Given the description of an element on the screen output the (x, y) to click on. 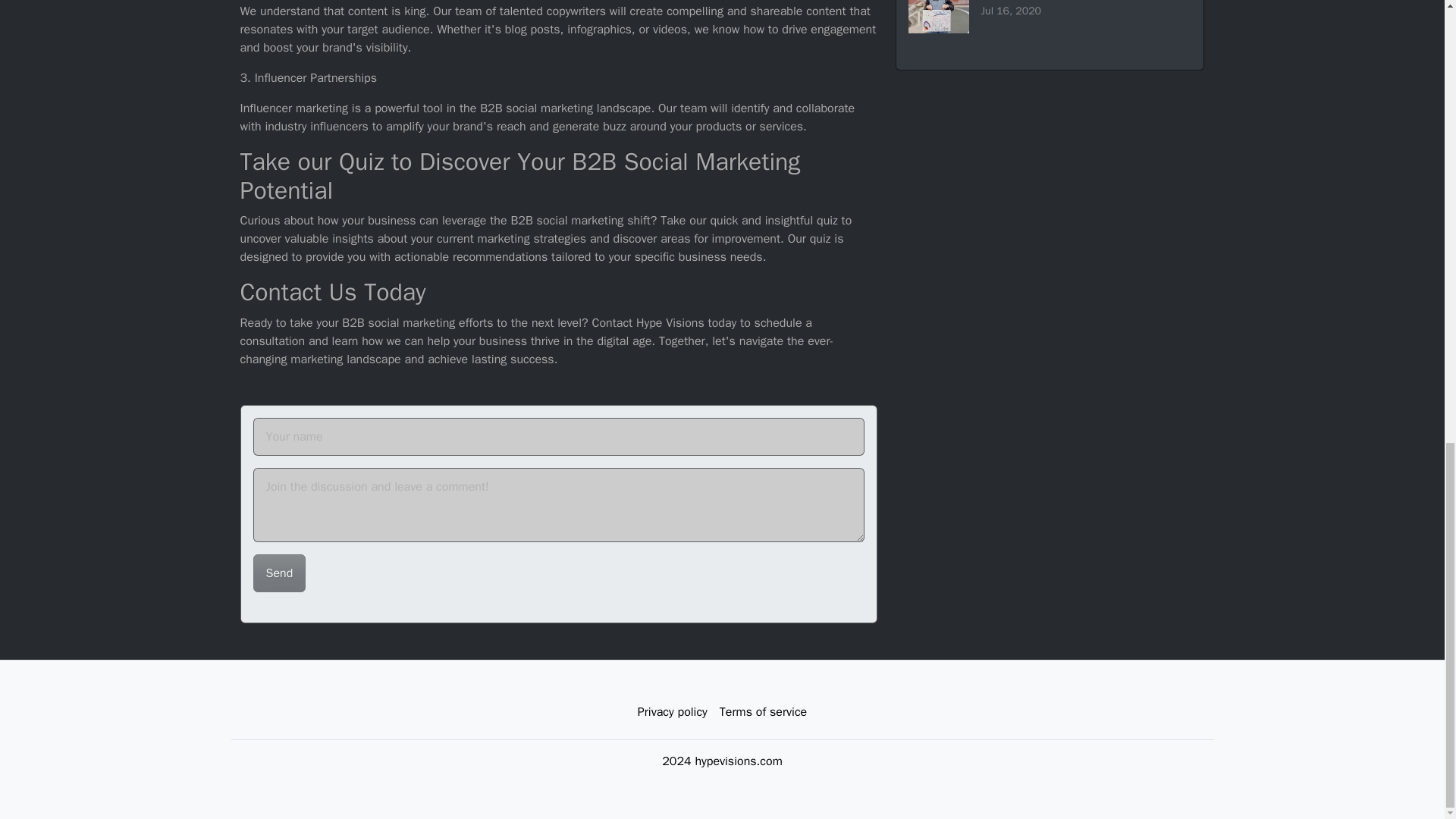
Terms of service (762, 711)
Privacy policy (672, 711)
Send (1050, 22)
Send (279, 573)
